Given the description of an element on the screen output the (x, y) to click on. 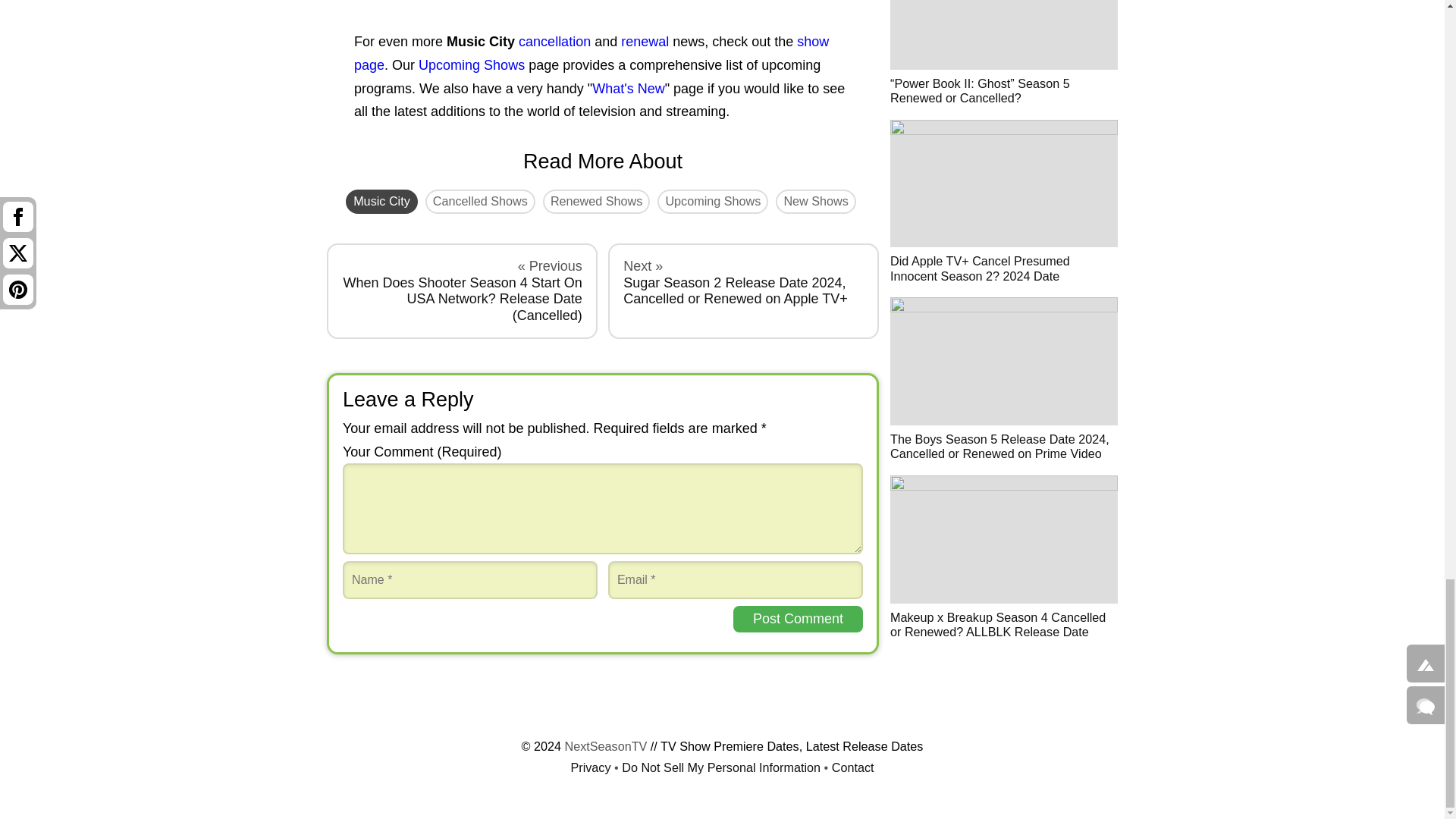
Post Comment (798, 619)
